Given the description of an element on the screen output the (x, y) to click on. 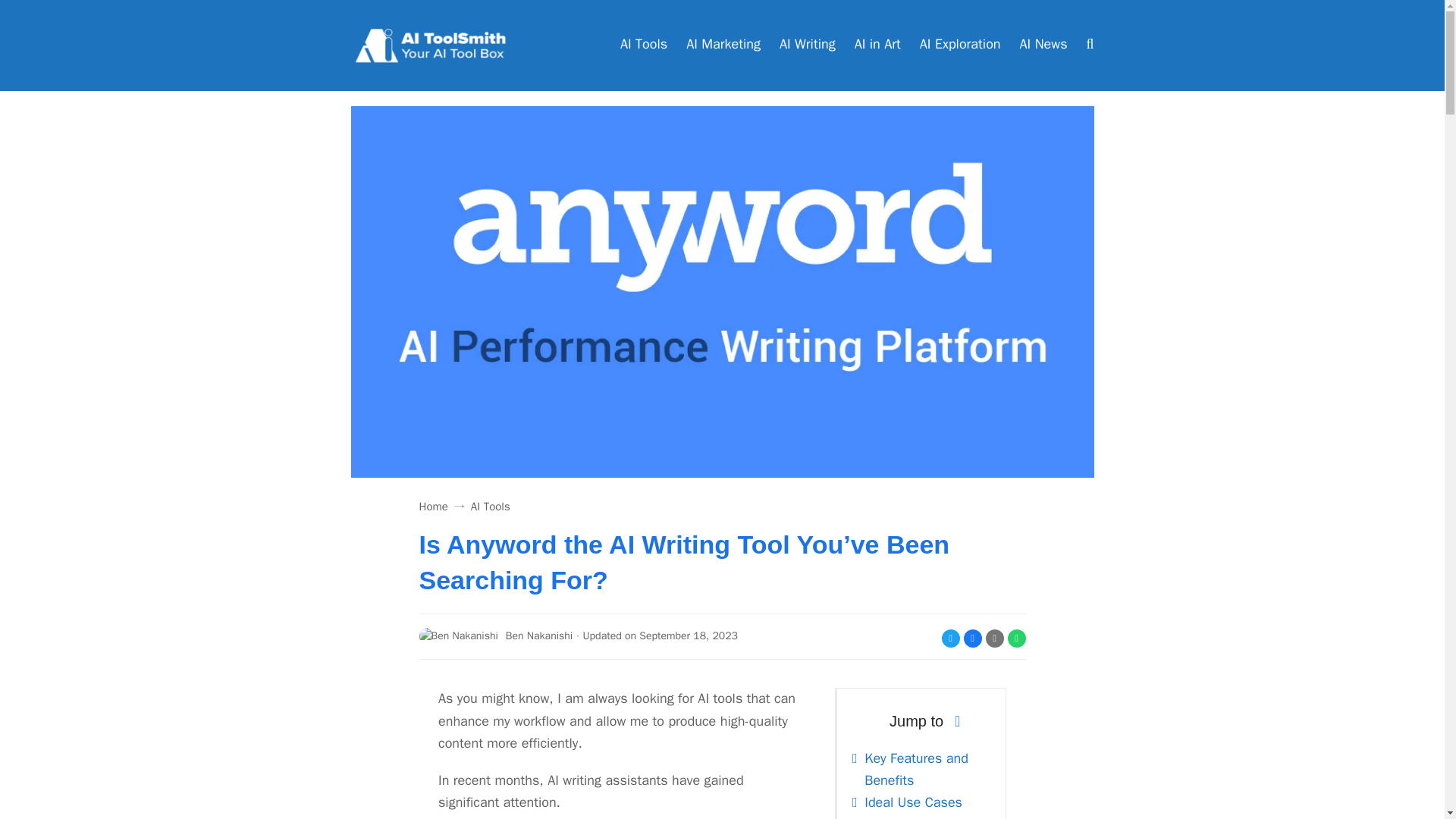
Share on Twitter (950, 638)
Pricing (884, 817)
AI in Art (877, 45)
AI Tools (490, 506)
Ben Nakanishi (495, 636)
AI Writing (806, 45)
AI News (1043, 45)
Home (432, 506)
Key Features and Benefits (916, 769)
Ideal Use Cases (913, 801)
